Given the description of an element on the screen output the (x, y) to click on. 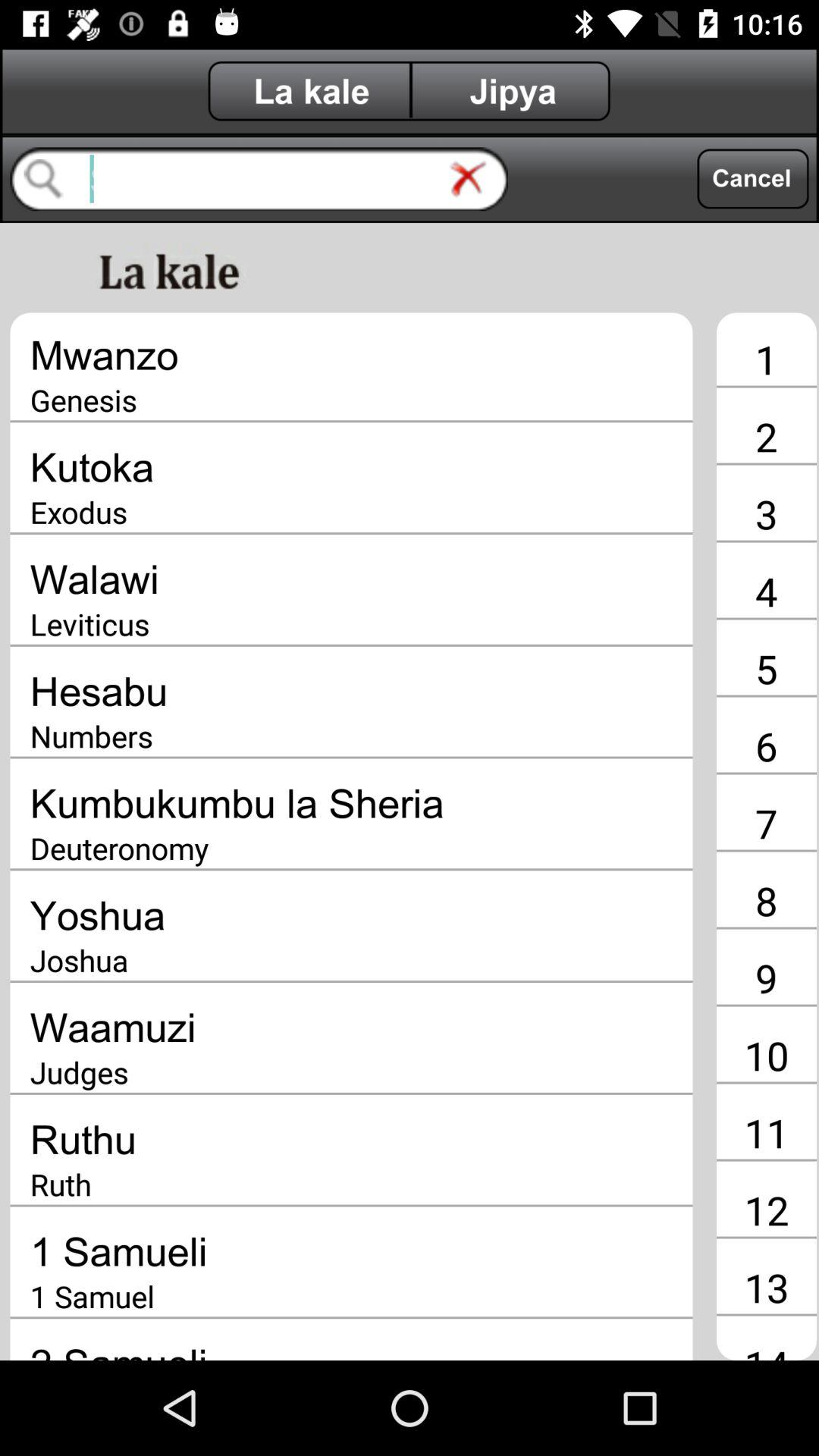
click 5 icon (766, 668)
